Given the description of an element on the screen output the (x, y) to click on. 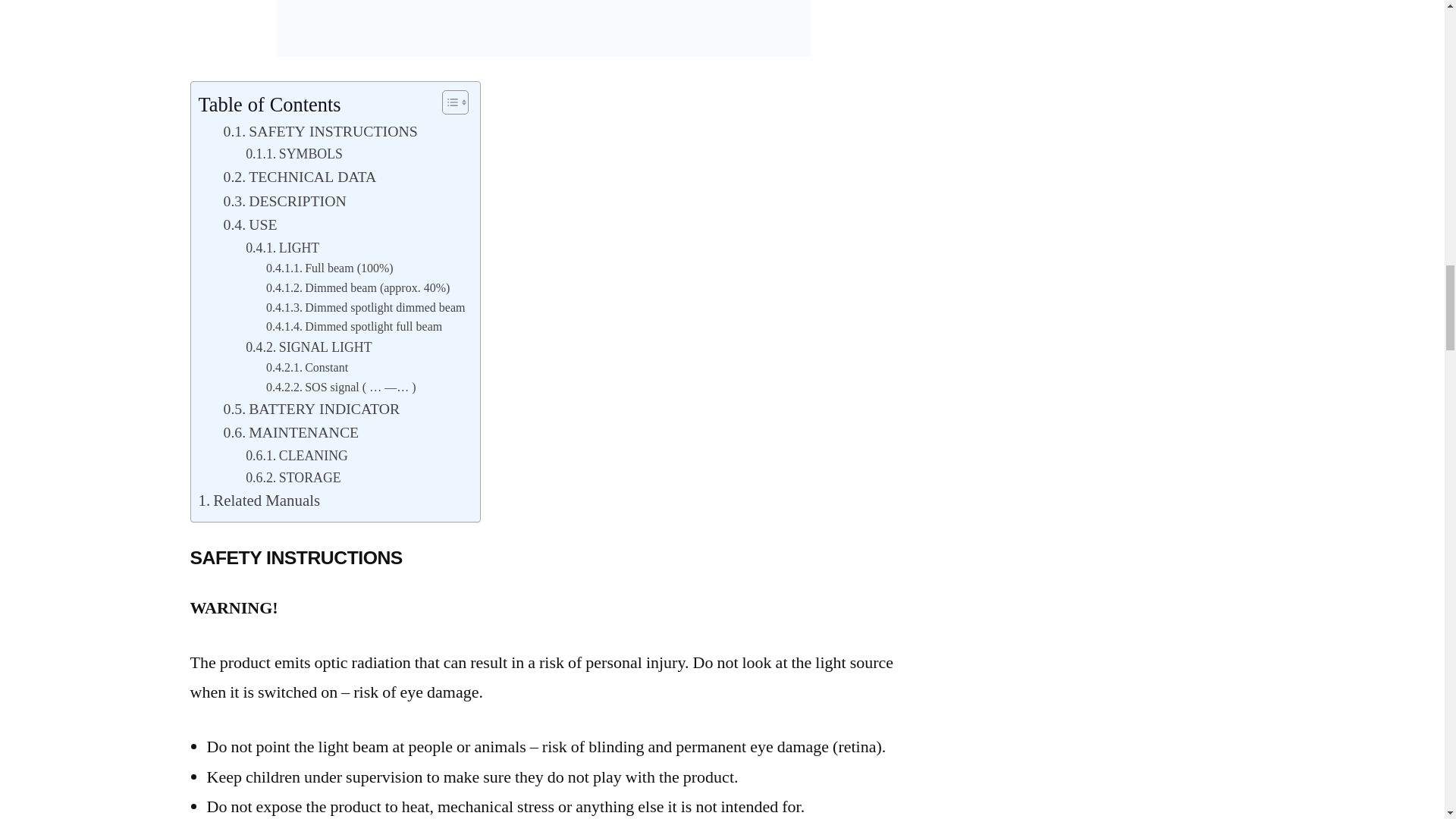
Related Manuals (259, 501)
SAFETY INSTRUCTIONS (319, 132)
BATTERY INDICATOR (310, 410)
Constant (306, 368)
STORAGE (293, 478)
Dimmed spotlight dimmed beam (365, 308)
SIGNAL LIGHT (308, 348)
USE (249, 225)
USE (249, 225)
Dimmed spotlight dimmed beam (365, 308)
SIGNAL LIGHT (308, 348)
SAFETY INSTRUCTIONS (319, 132)
Constant (306, 368)
TECHNICAL DATA (298, 178)
Dimmed spotlight full beam (354, 327)
